Given the description of an element on the screen output the (x, y) to click on. 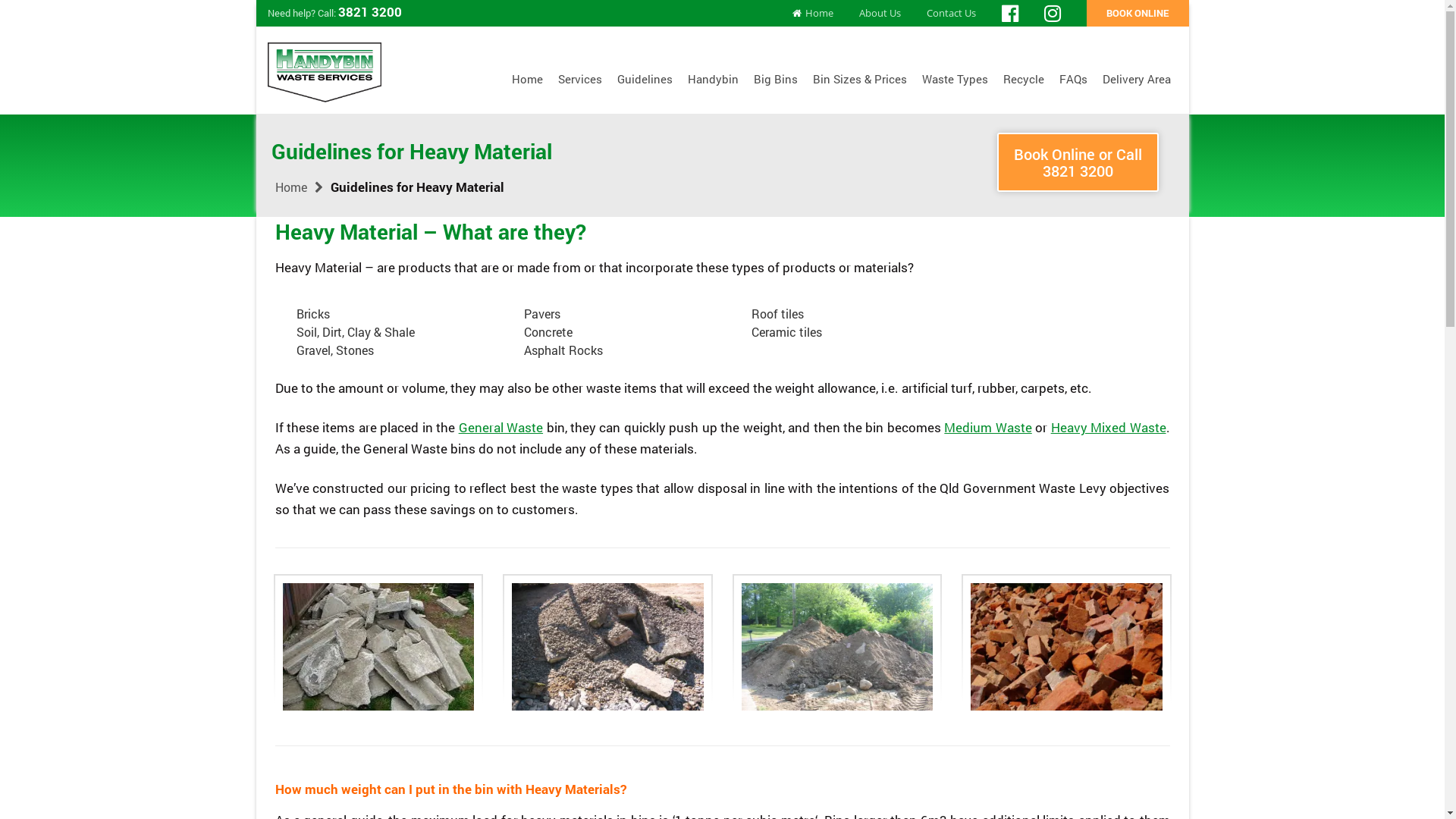
Services Element type: text (580, 79)
Waste Types Element type: text (955, 79)
Heavy Mixed Waste Element type: text (1108, 427)
Home Element type: text (526, 79)
Handybin Element type: text (712, 79)
BOOK ONLINE Element type: text (1136, 13)
Home Element type: text (290, 186)
About Us Element type: text (890, 13)
Heavy Material - Dirt, Soil with some Mixed Waste Element type: hover (837, 646)
Big Bins Element type: text (775, 79)
Heavy Material - Recyclable Bricks & Pavers Element type: hover (1066, 646)
General Waste Element type: text (500, 427)
Handybin Waste Services Element type: hover (323, 70)
Delivery Area Element type: text (1136, 79)
Book Online or Call
3821 3200 Element type: text (1077, 161)
Medium Waste Element type: text (987, 427)
Bin Sizes & Prices Element type: text (859, 79)
Guidelines Element type: text (644, 79)
Heavy Material - Recyclable Bricks & Gravel Element type: hover (607, 646)
Home Element type: text (830, 13)
Contact Us Element type: text (962, 13)
Heavy Material - Clean Concrete Waste Element type: hover (377, 646)
Skip to content Element type: text (496, 98)
FAQs Element type: text (1073, 79)
Recycle Element type: text (1023, 79)
